Given the description of an element on the screen output the (x, y) to click on. 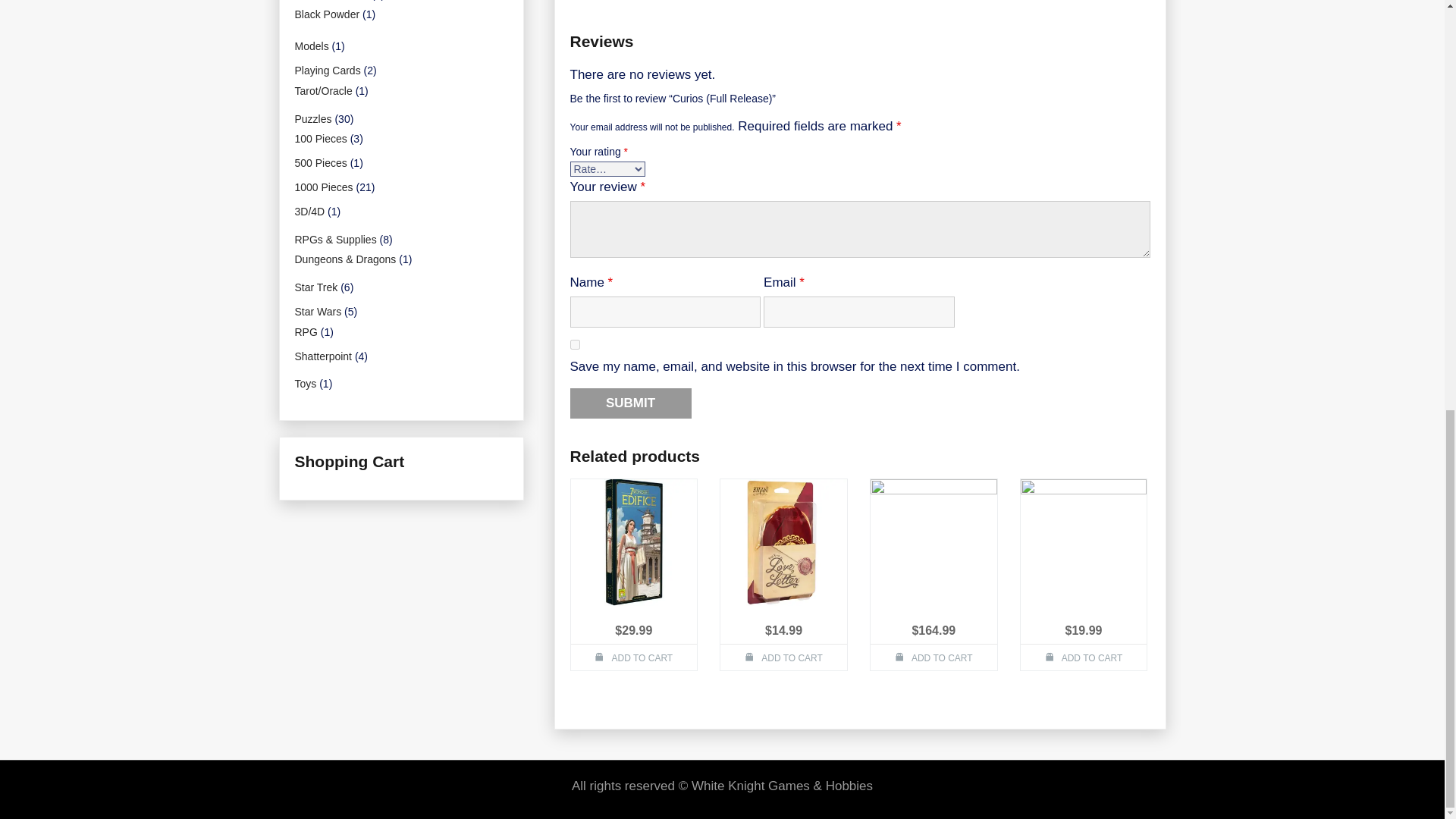
Submit (630, 403)
ADD TO CART (633, 656)
ADD TO CART (1083, 656)
ADD TO CART (783, 656)
ADD TO CART (933, 656)
yes (574, 344)
Submit (630, 403)
